Given the description of an element on the screen output the (x, y) to click on. 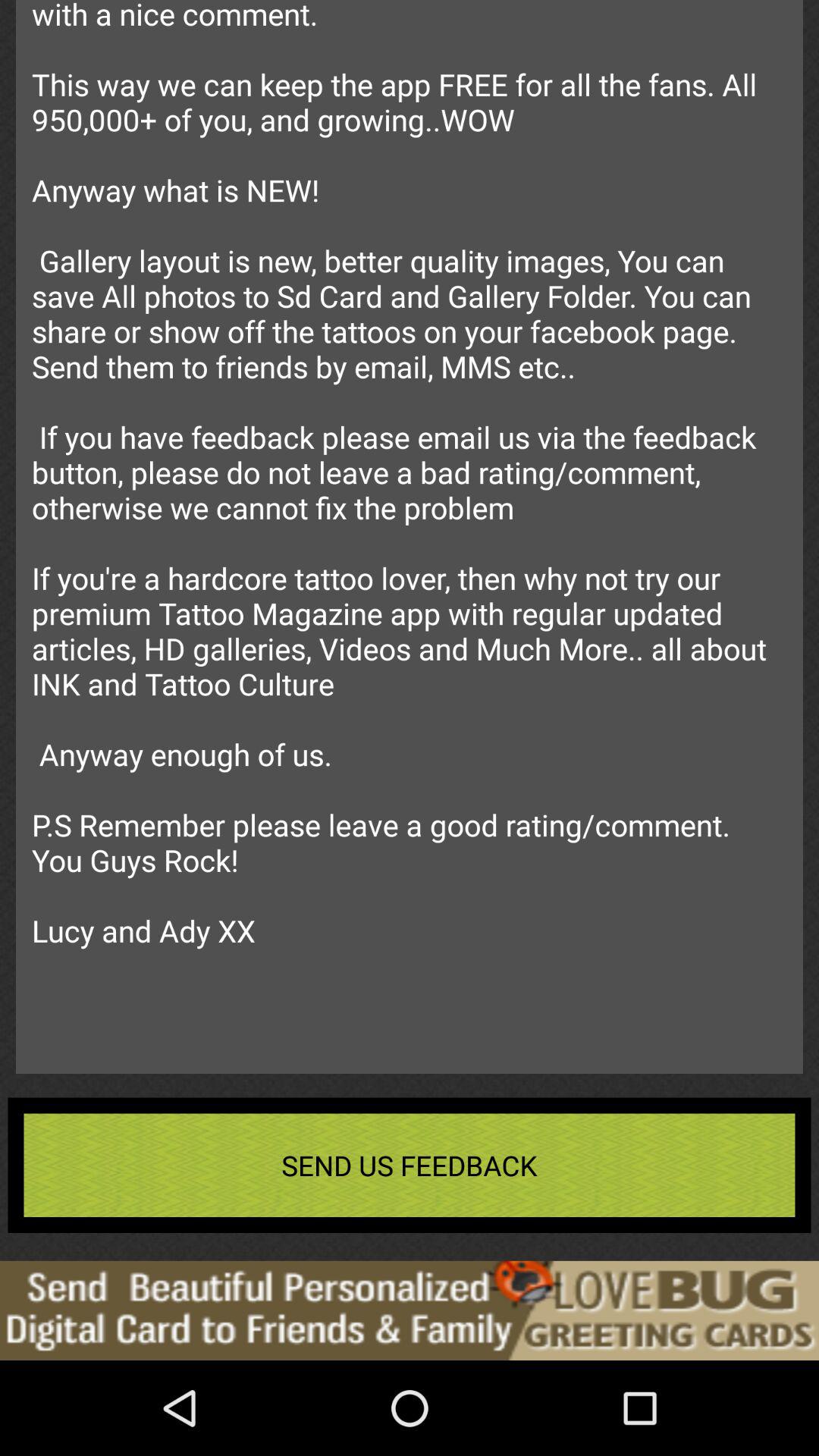
advertising (409, 1310)
